Given the description of an element on the screen output the (x, y) to click on. 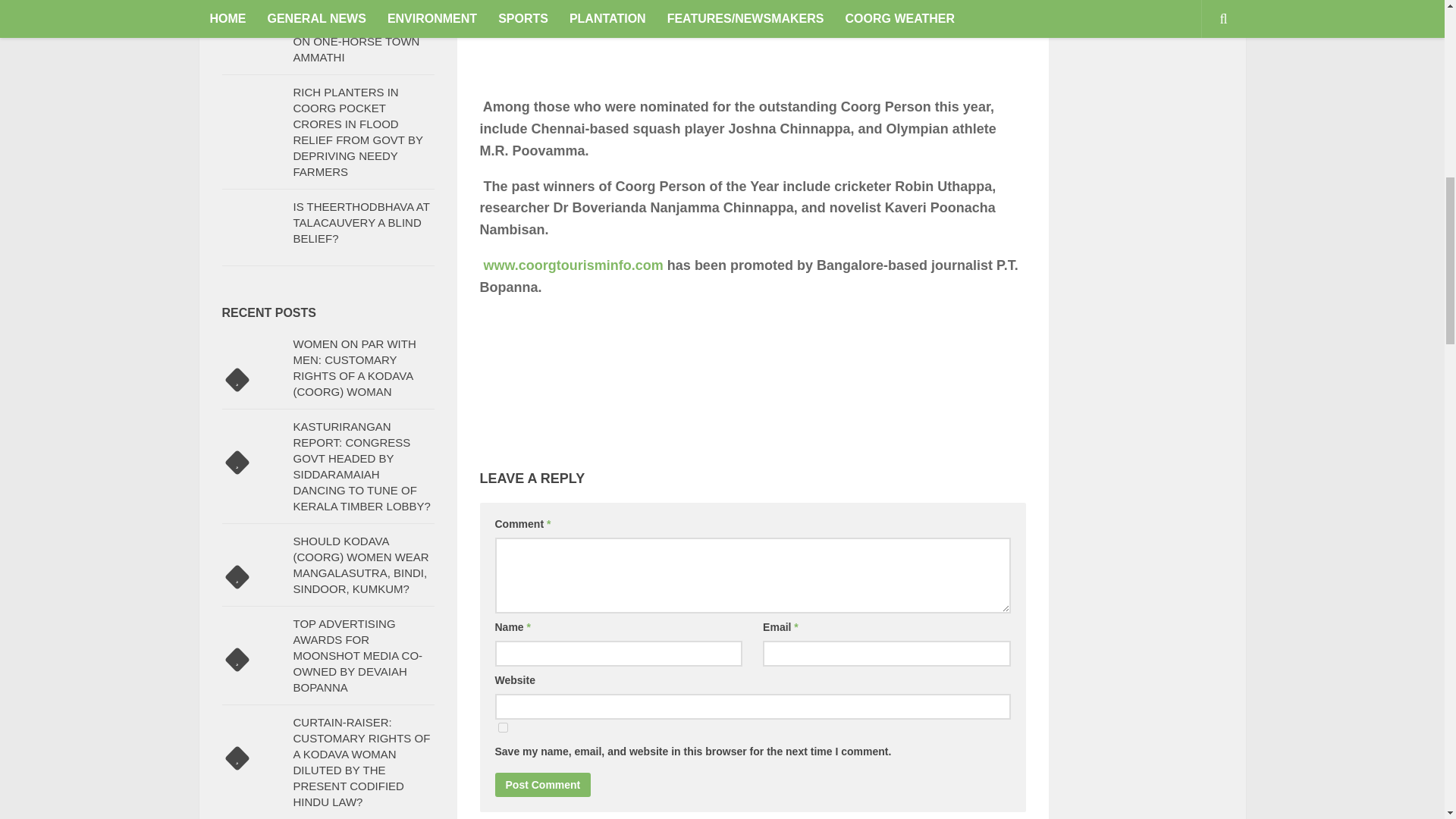
yes (501, 727)
IS THEERTHODBHAVA AT TALACAUVERY A BLIND BELIEF? (360, 221)
www.coorgtourisminfo.com (573, 264)
Advertisement (752, 48)
Post Comment (543, 784)
Post Comment (543, 784)
